Given the description of an element on the screen output the (x, y) to click on. 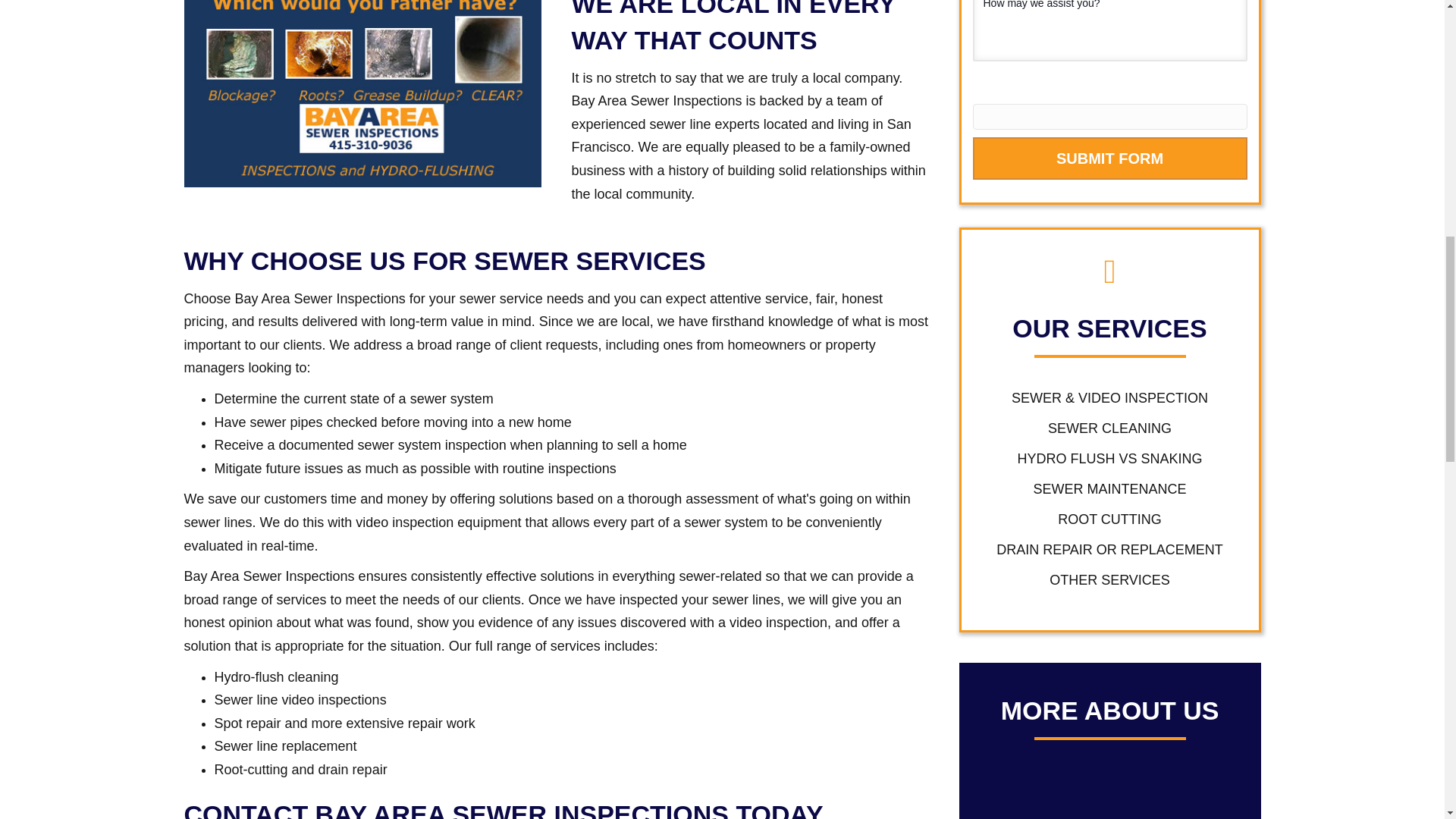
DRAIN REPAIR OR REPLACEMENT (1109, 546)
ROOT CUTTING (1109, 516)
HYDRO FLUSH VS SNAKING (1109, 455)
SEWER CLEANING (1109, 425)
reliable professionals (1041, 796)
OTHER SERVICES (1109, 577)
SEWER MAINTENANCE (1109, 486)
highly recommended (1178, 796)
GPcoverImagebaysewer5 (361, 93)
Submit Form (1109, 158)
